Given the description of an element on the screen output the (x, y) to click on. 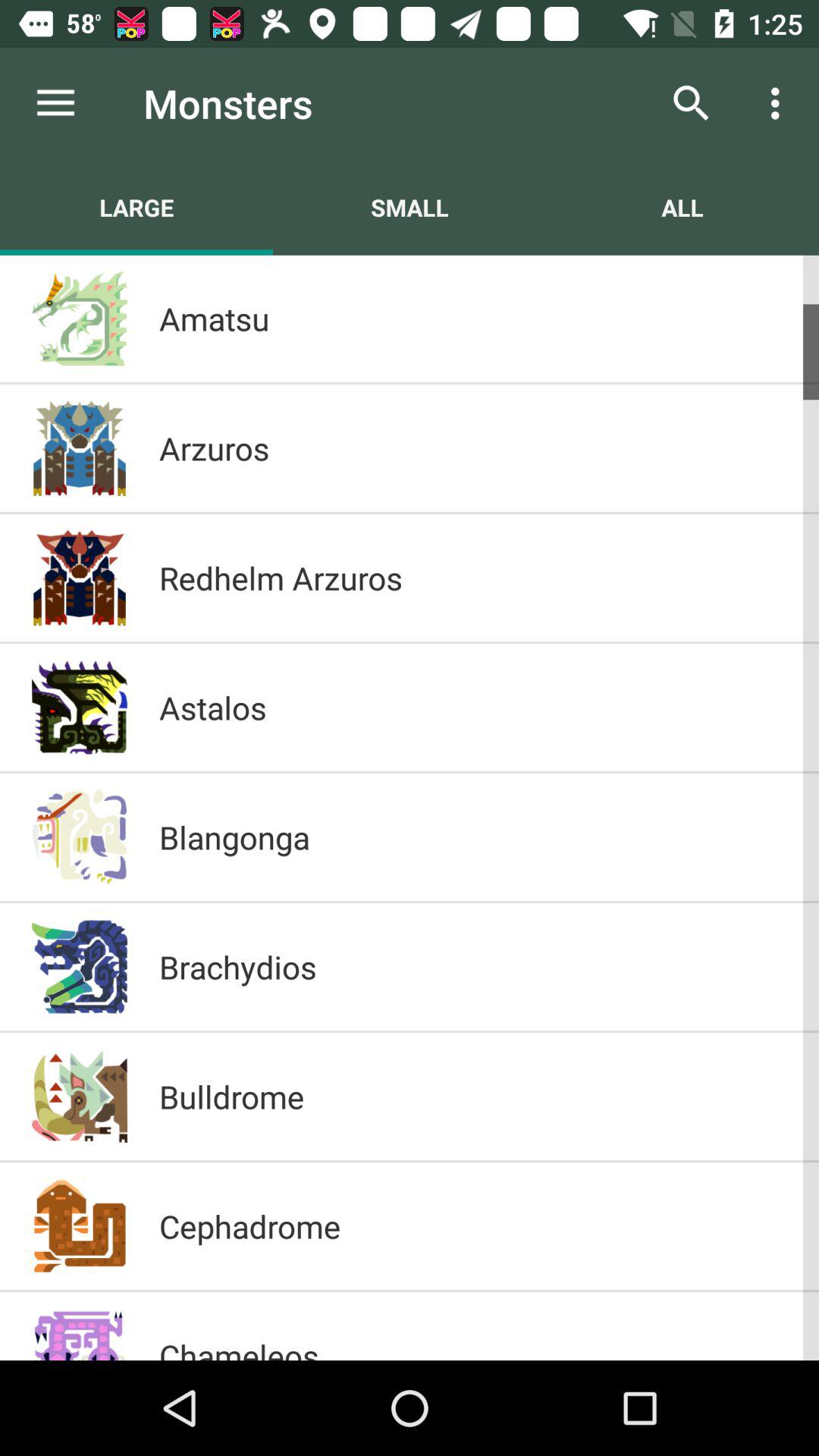
open the icon to the left of all icon (409, 207)
